Given the description of an element on the screen output the (x, y) to click on. 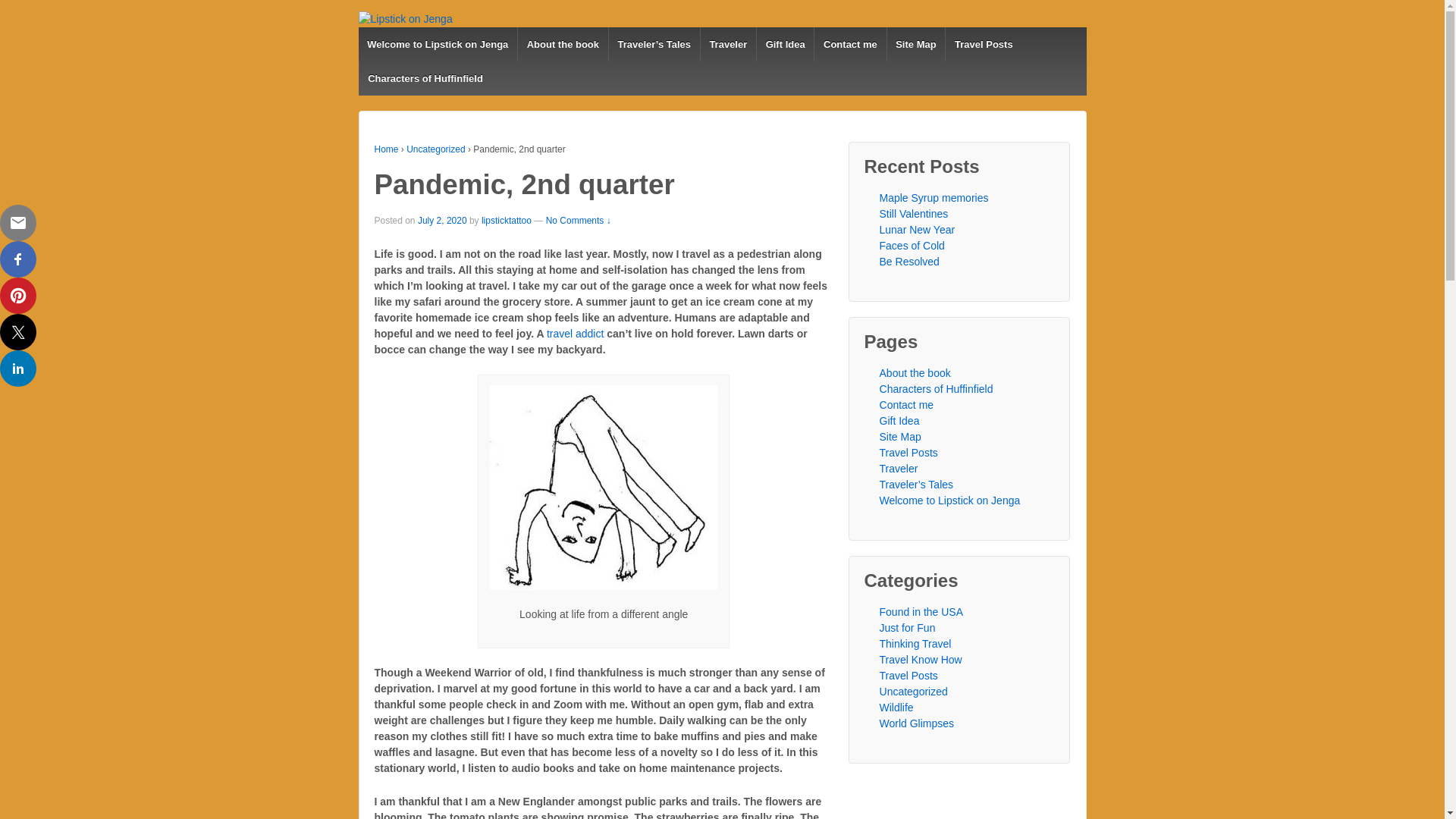
Home (386, 149)
Site Map (915, 44)
About the book (562, 44)
Pandemic, 2nd quarter (442, 220)
Welcome to Lipstick on Jenga (437, 44)
View all posts by lipsticktattoo (506, 220)
lipsticktattoo (506, 220)
July 2, 2020 (442, 220)
Gift Idea (784, 44)
Characters of Huffinfield (425, 78)
